Given the description of an element on the screen output the (x, y) to click on. 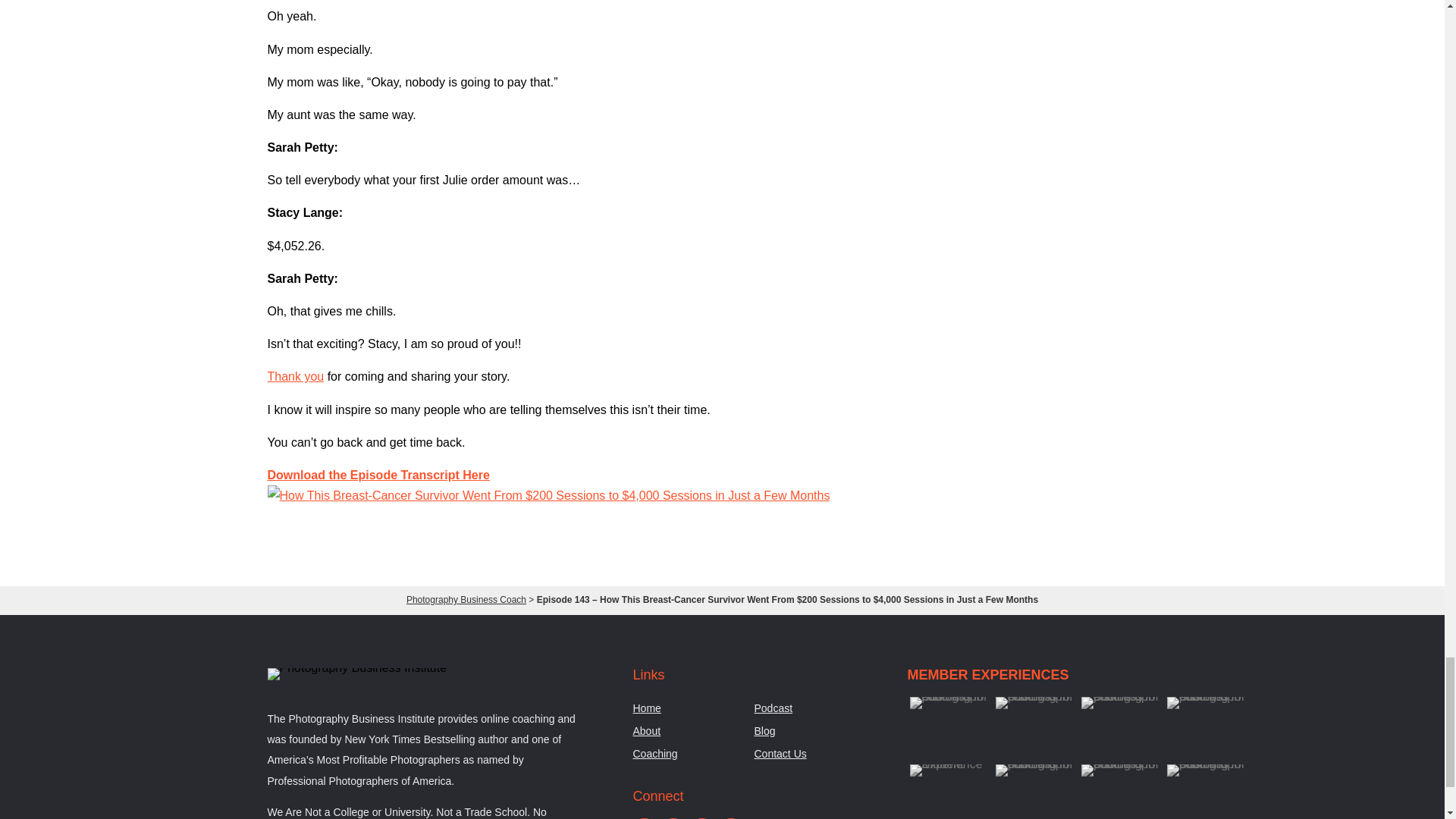
Download the Episode Transcript Here (377, 474)
Thank you (294, 376)
Thank you (294, 376)
